Given the description of an element on the screen output the (x, y) to click on. 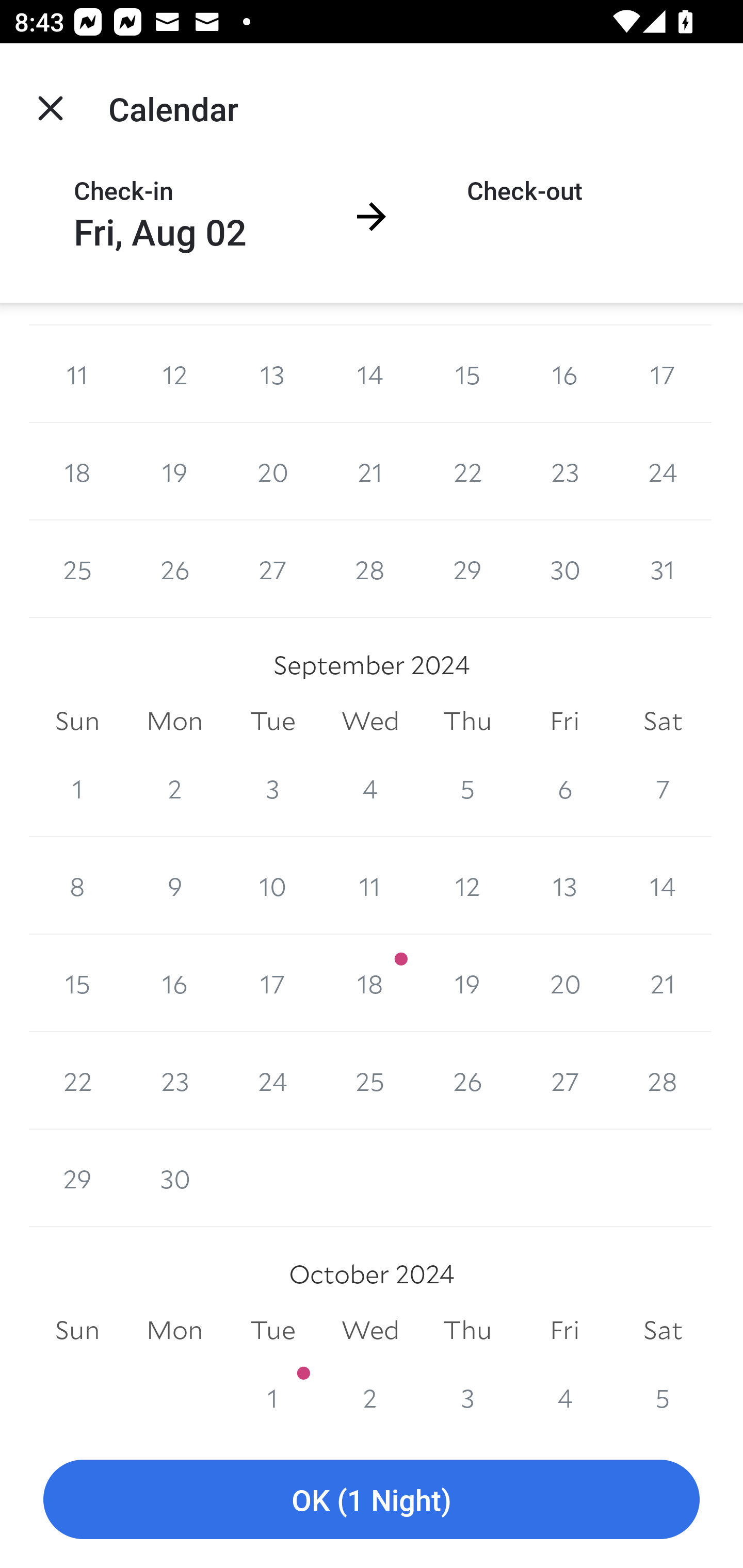
11 11 August 2024 (77, 374)
12 12 August 2024 (174, 374)
13 13 August 2024 (272, 374)
14 14 August 2024 (370, 374)
15 15 August 2024 (467, 374)
16 16 August 2024 (564, 374)
17 17 August 2024 (662, 374)
18 18 August 2024 (77, 471)
19 19 August 2024 (174, 471)
20 20 August 2024 (272, 471)
21 21 August 2024 (370, 471)
22 22 August 2024 (467, 471)
23 23 August 2024 (564, 471)
24 24 August 2024 (662, 471)
25 25 August 2024 (77, 568)
26 26 August 2024 (174, 568)
27 27 August 2024 (272, 568)
28 28 August 2024 (370, 568)
29 29 August 2024 (467, 568)
30 30 August 2024 (564, 568)
31 31 August 2024 (662, 568)
Sun (77, 721)
Mon (174, 721)
Tue (272, 721)
Wed (370, 721)
Thu (467, 721)
Fri (564, 721)
Sat (662, 721)
1 1 September 2024 (77, 788)
2 2 September 2024 (174, 788)
3 3 September 2024 (272, 788)
4 4 September 2024 (370, 788)
5 5 September 2024 (467, 788)
6 6 September 2024 (564, 788)
7 7 September 2024 (662, 788)
8 8 September 2024 (77, 885)
9 9 September 2024 (174, 885)
10 10 September 2024 (272, 885)
11 11 September 2024 (370, 885)
12 12 September 2024 (467, 885)
13 13 September 2024 (564, 885)
14 14 September 2024 (662, 885)
15 15 September 2024 (77, 982)
16 16 September 2024 (174, 982)
17 17 September 2024 (272, 982)
18 18 September 2024 (370, 982)
19 19 September 2024 (467, 982)
20 20 September 2024 (564, 982)
21 21 September 2024 (662, 982)
22 22 September 2024 (77, 1079)
23 23 September 2024 (174, 1079)
24 24 September 2024 (272, 1079)
25 25 September 2024 (370, 1079)
26 26 September 2024 (467, 1079)
27 27 September 2024 (564, 1079)
28 28 September 2024 (662, 1079)
29 29 September 2024 (77, 1177)
30 30 September 2024 (174, 1177)
Sun (77, 1330)
Mon (174, 1330)
Tue (272, 1330)
Wed (370, 1330)
Thu (467, 1330)
Fri (564, 1330)
Sat (662, 1330)
1 1 October 2024 (272, 1389)
2 2 October 2024 (370, 1389)
3 3 October 2024 (467, 1389)
4 4 October 2024 (564, 1389)
5 5 October 2024 (662, 1389)
OK (1 Night) (371, 1499)
